Given the description of an element on the screen output the (x, y) to click on. 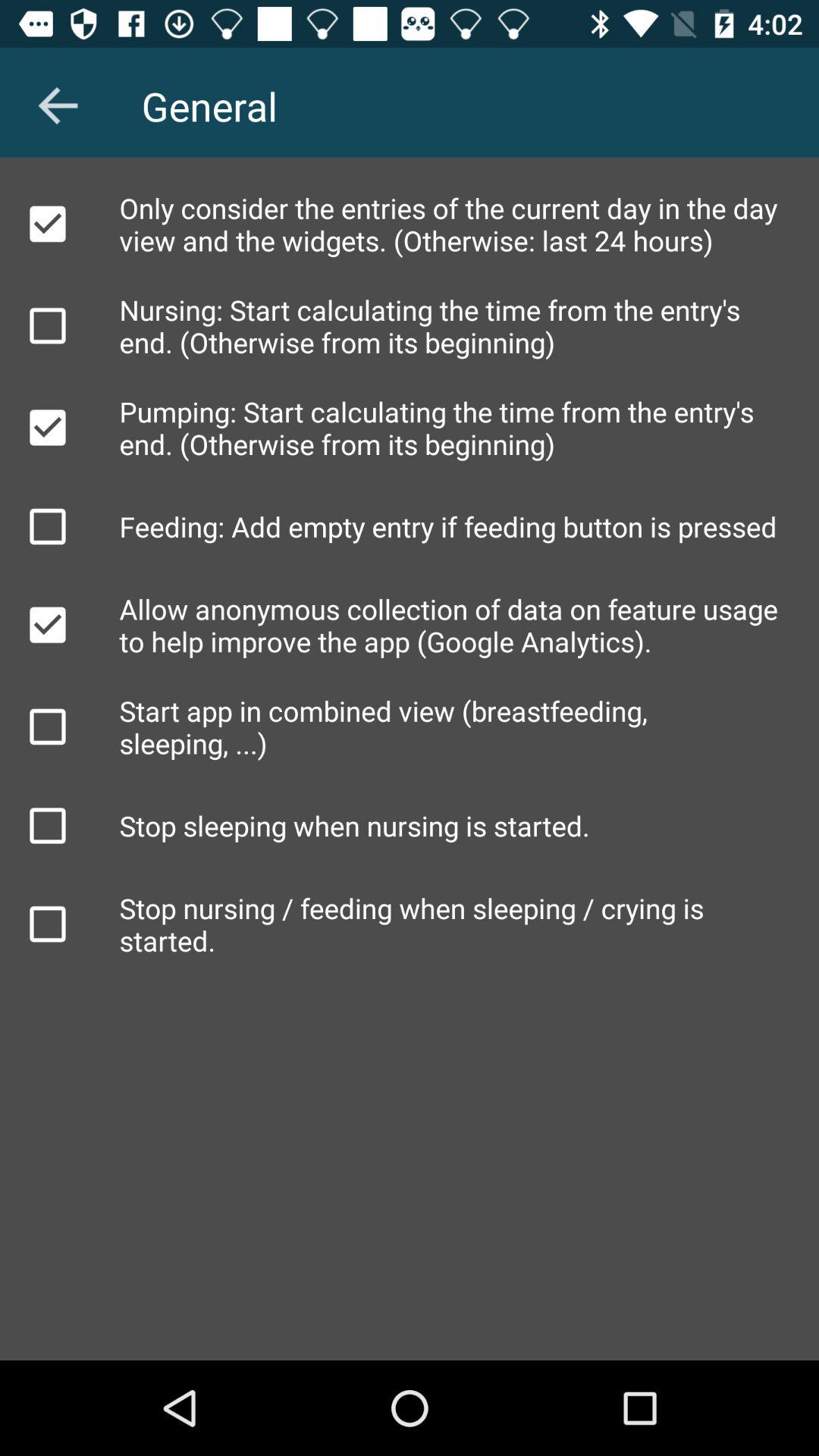
select item (47, 726)
